Given the description of an element on the screen output the (x, y) to click on. 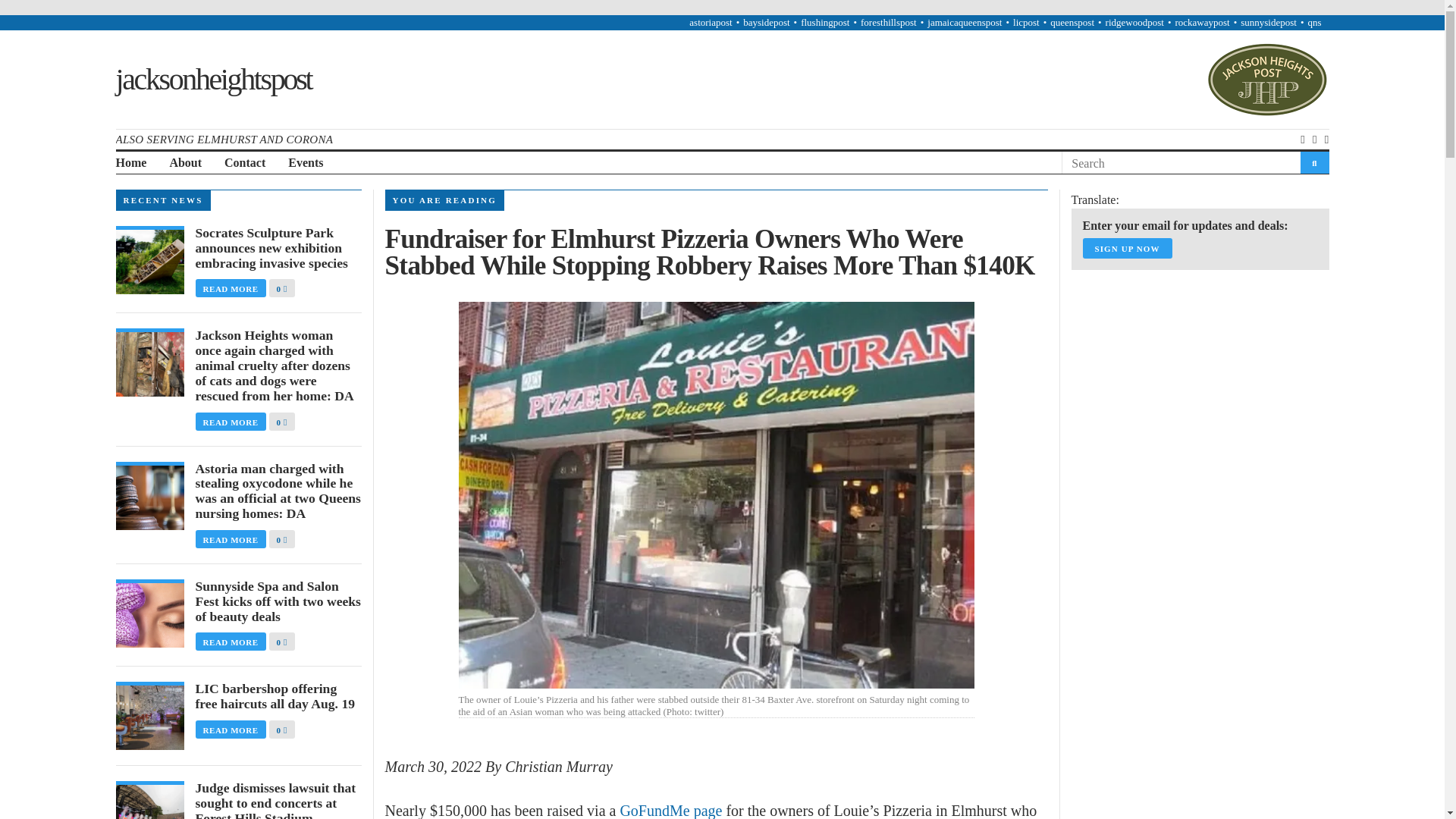
ridgewoodpost (1134, 21)
sunnysidepost (1268, 21)
rockawaypost (1201, 21)
flushingpost (824, 21)
baysidepost (765, 21)
Home (131, 163)
jacksonheightspost (213, 79)
Events (305, 163)
Contact (244, 163)
queenspost (1071, 21)
